Given the description of an element on the screen output the (x, y) to click on. 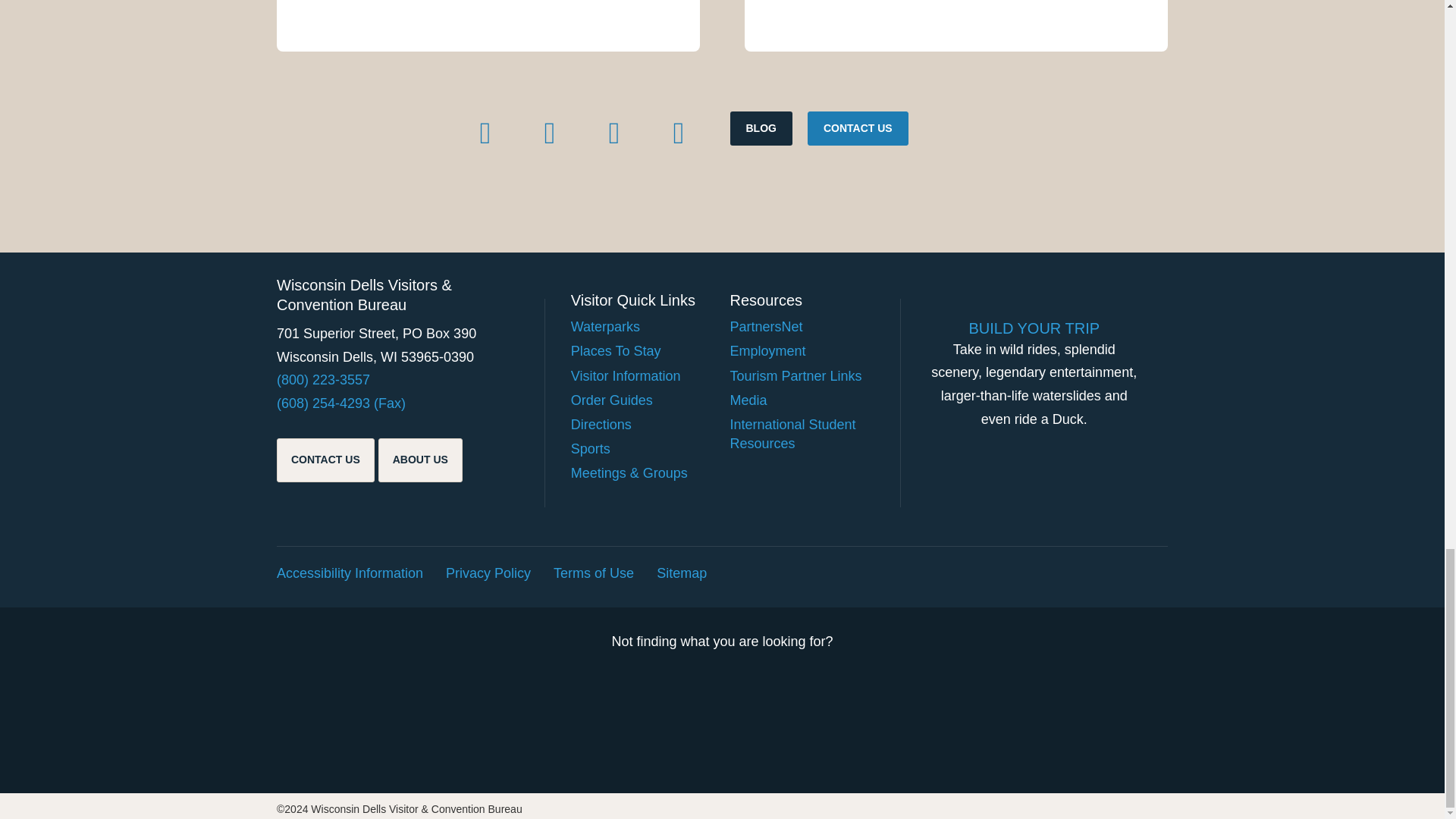
Tiktok (549, 132)
Instagram (613, 132)
YouTube (678, 132)
Facebook (485, 132)
CONTACT US (858, 128)
BLOG (760, 128)
